Given the description of an element on the screen output the (x, y) to click on. 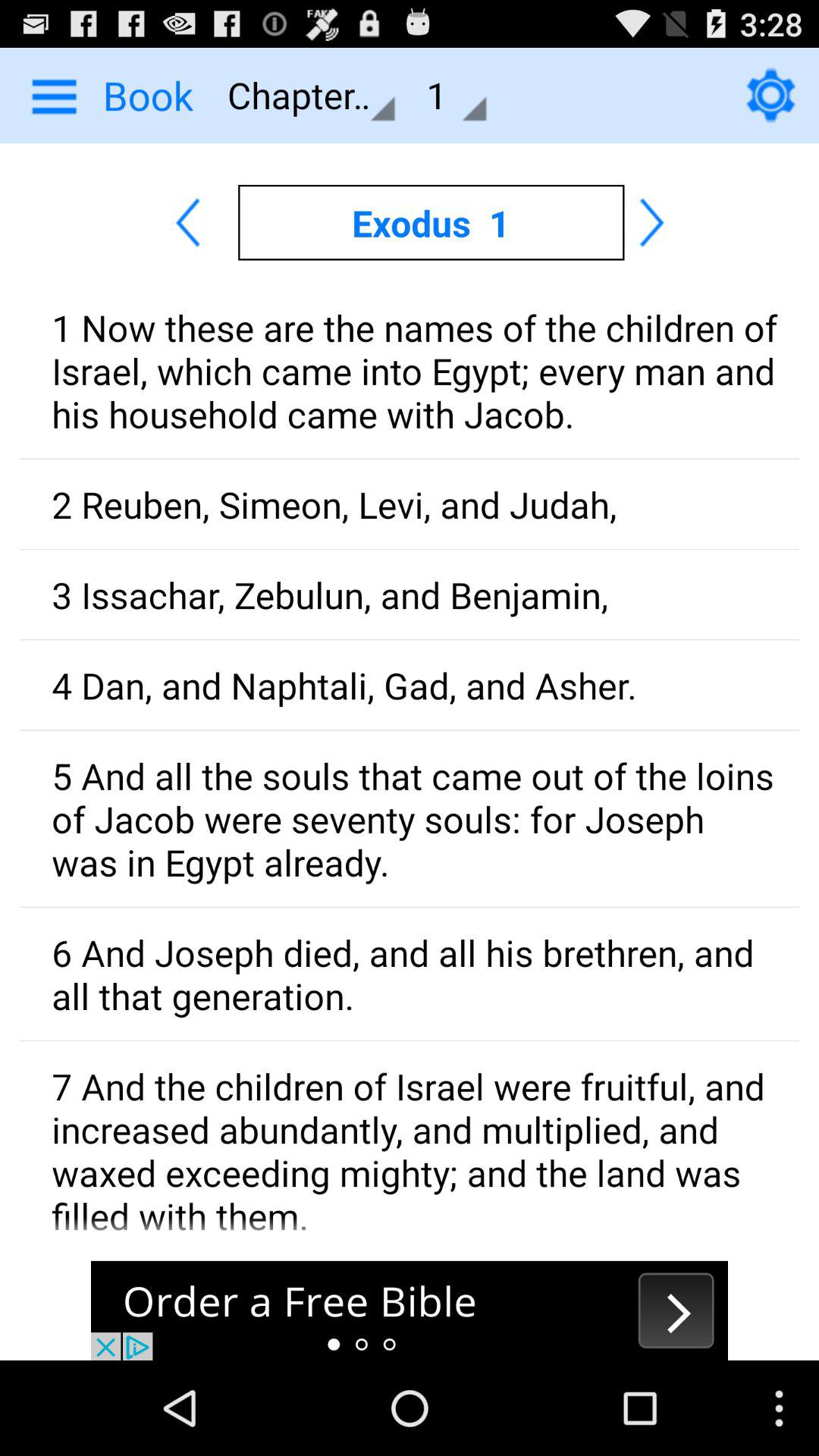
shows order a free bible option (409, 1310)
